Given the description of an element on the screen output the (x, y) to click on. 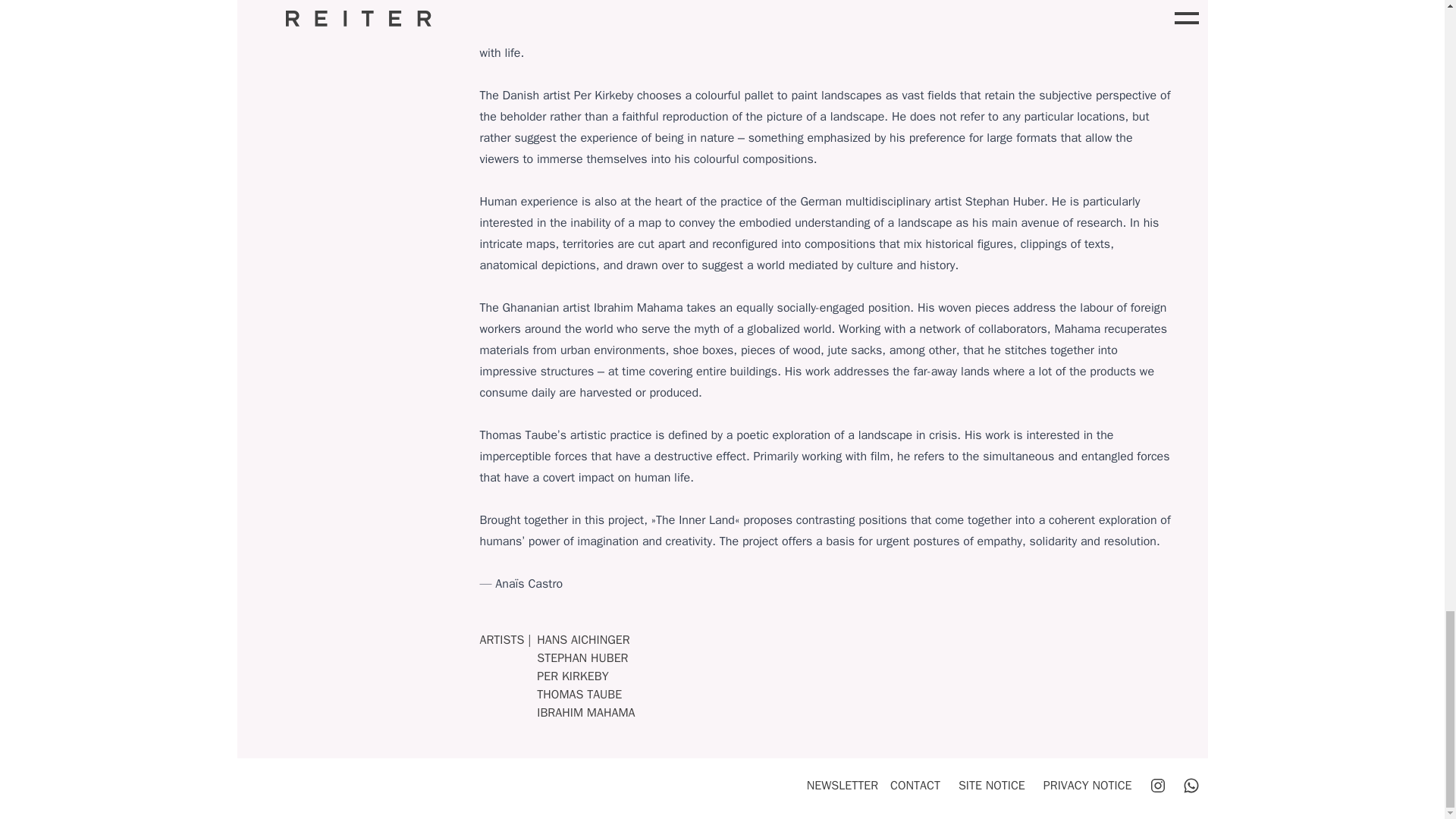
SITE NOTICE (991, 785)
IBRAHIM MAHAMA (585, 712)
CONTACT (914, 785)
PRIVACY NOTICE (1087, 785)
NEWSLETTER (841, 785)
THOMAS TAUBE (579, 694)
HANS AICHINGER (582, 639)
